Given the description of an element on the screen output the (x, y) to click on. 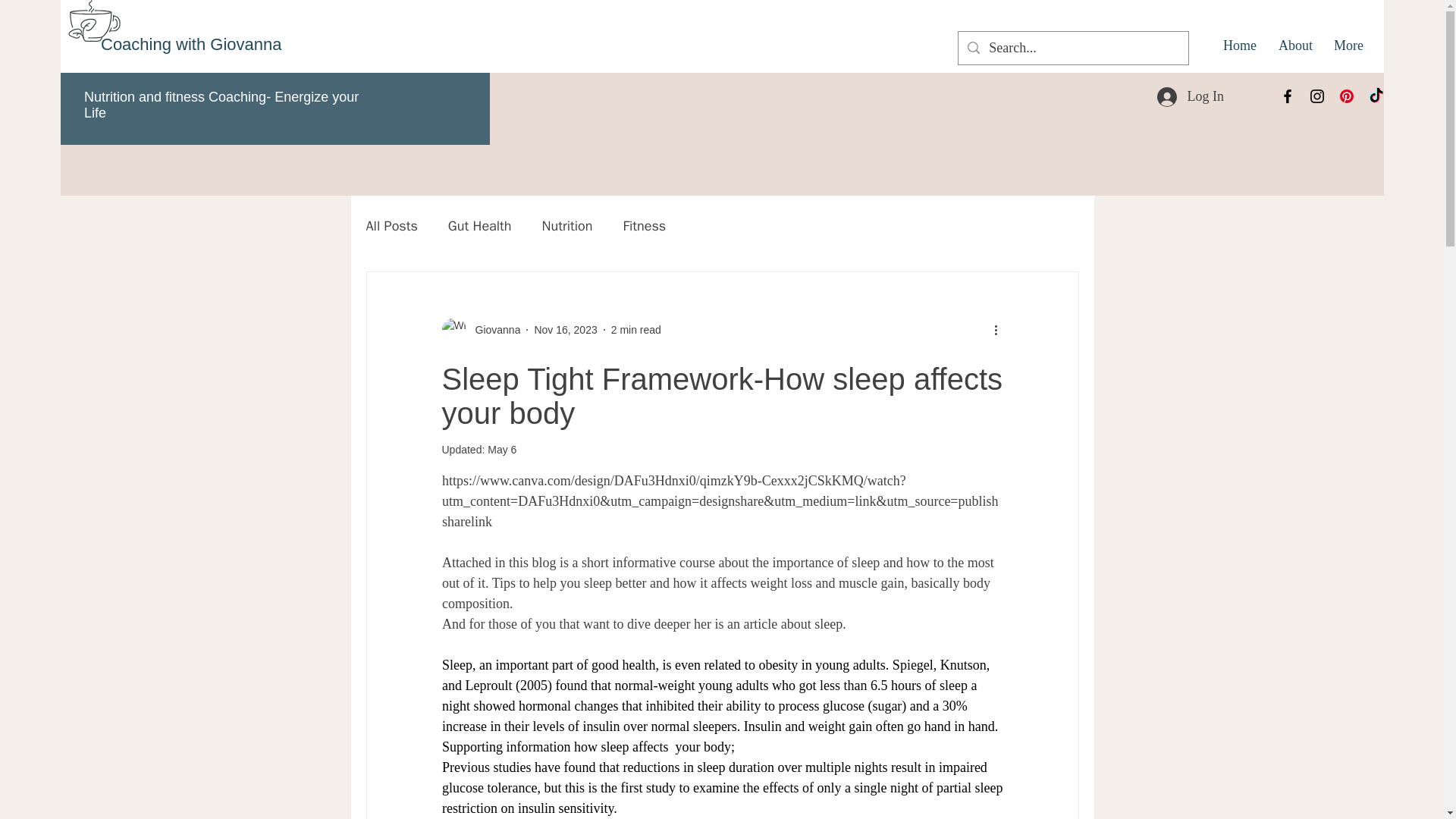
Log In (1190, 95)
Fitness (644, 226)
Nutrition (566, 226)
Coaching with Giovanna (190, 44)
All Posts (390, 226)
Home (1238, 45)
2 min read (636, 328)
 Giovanna (492, 329)
About (1294, 45)
May 6 (501, 449)
